Given the description of an element on the screen output the (x, y) to click on. 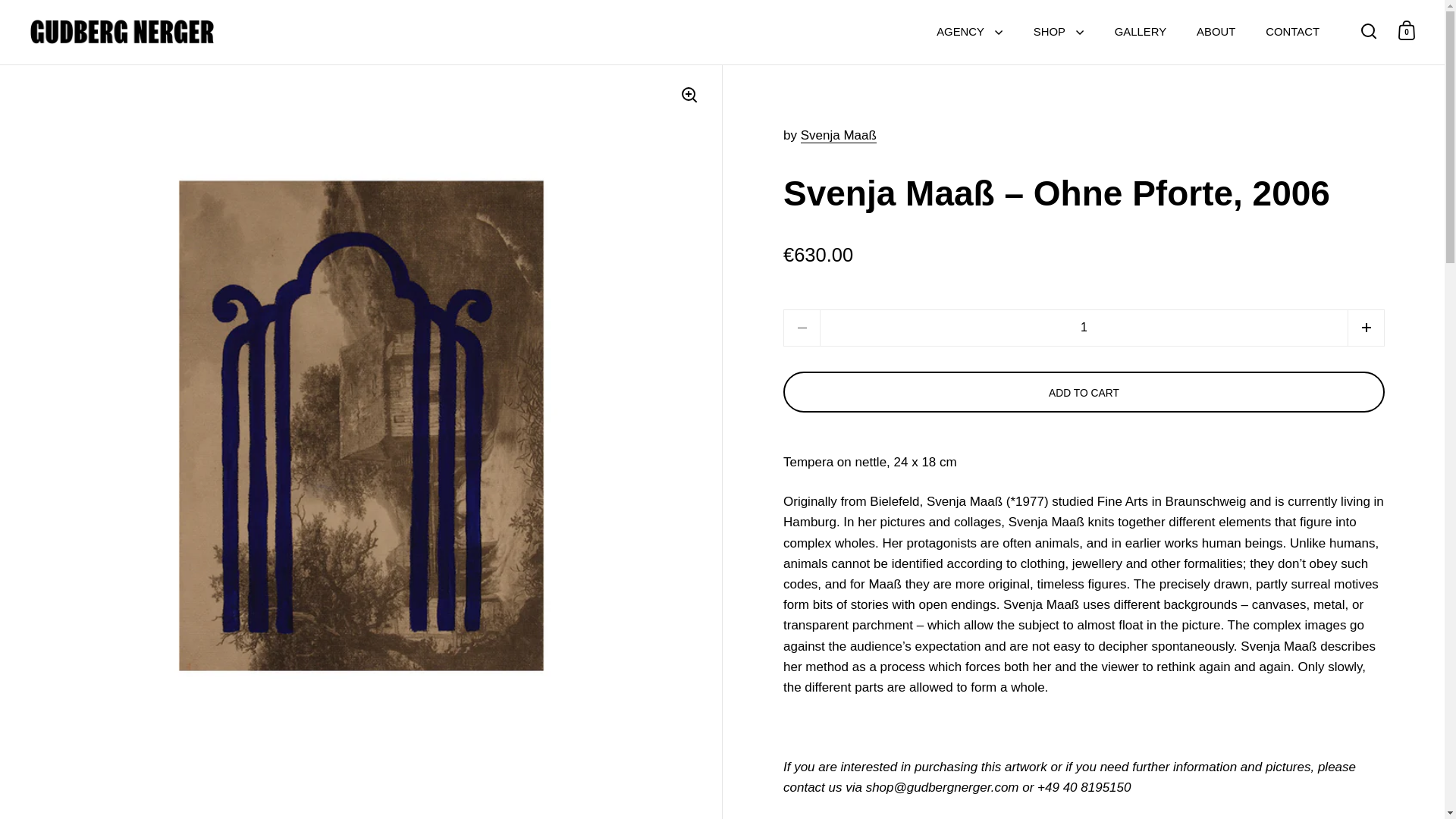
ABOUT (1215, 32)
GALLERY (1139, 32)
Open cart (1406, 30)
ADD TO CART (1083, 392)
Open search (1369, 30)
1 (1084, 327)
CONTACT (1292, 32)
ADD TO CART (1083, 391)
AGENCY (969, 32)
SHOP (1058, 32)
